Given the description of an element on the screen output the (x, y) to click on. 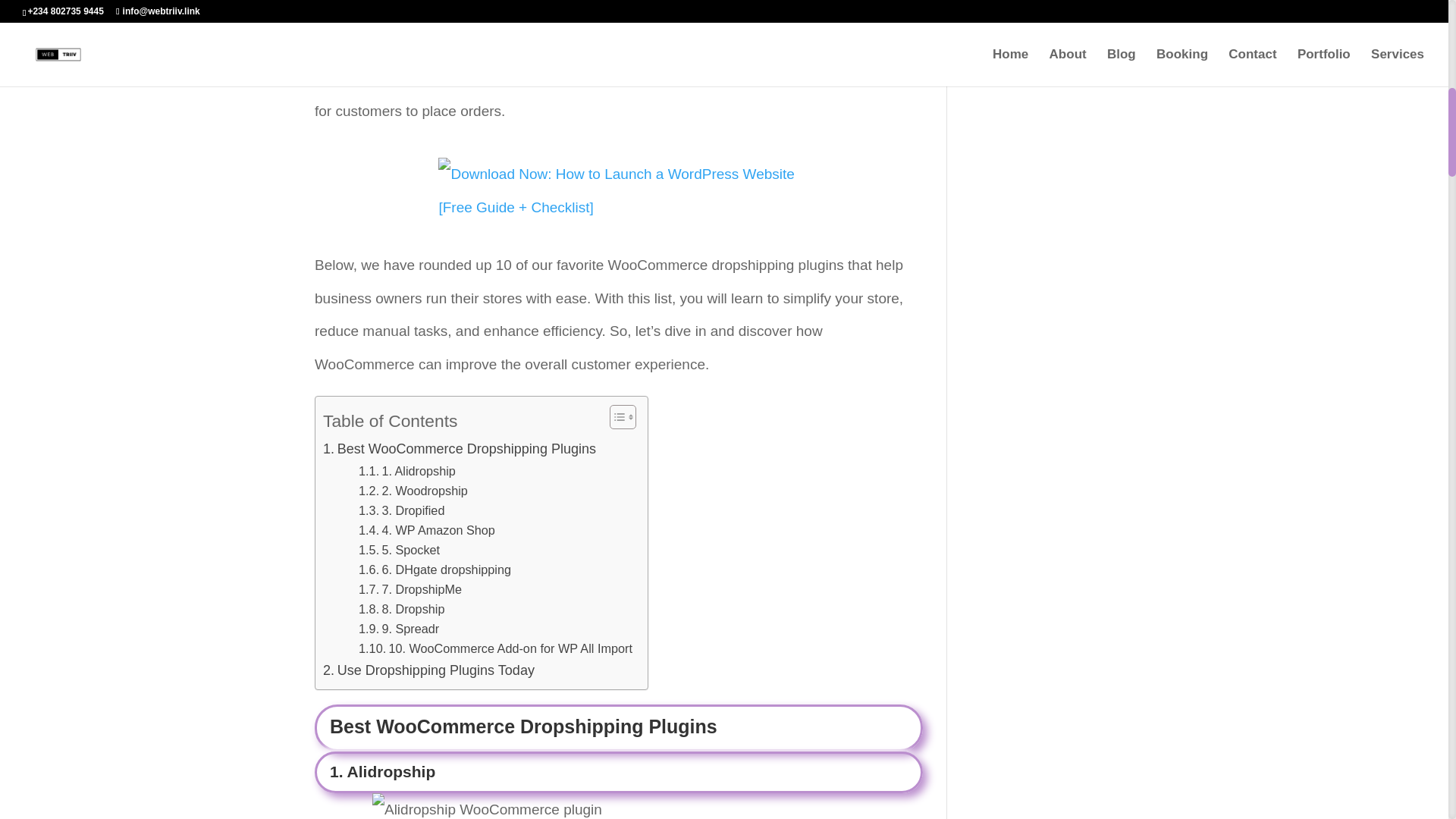
Use Dropshipping Plugins Today (428, 670)
Best WooCommerce Dropshipping Plugins (459, 449)
3. Dropified (401, 510)
4. WP Amazon Shop (426, 529)
4. WP Amazon Shop (426, 529)
9. Spreadr (398, 628)
2. Woodropship (412, 490)
7. DropshipMe (409, 588)
9. Spreadr (398, 628)
